Given the description of an element on the screen output the (x, y) to click on. 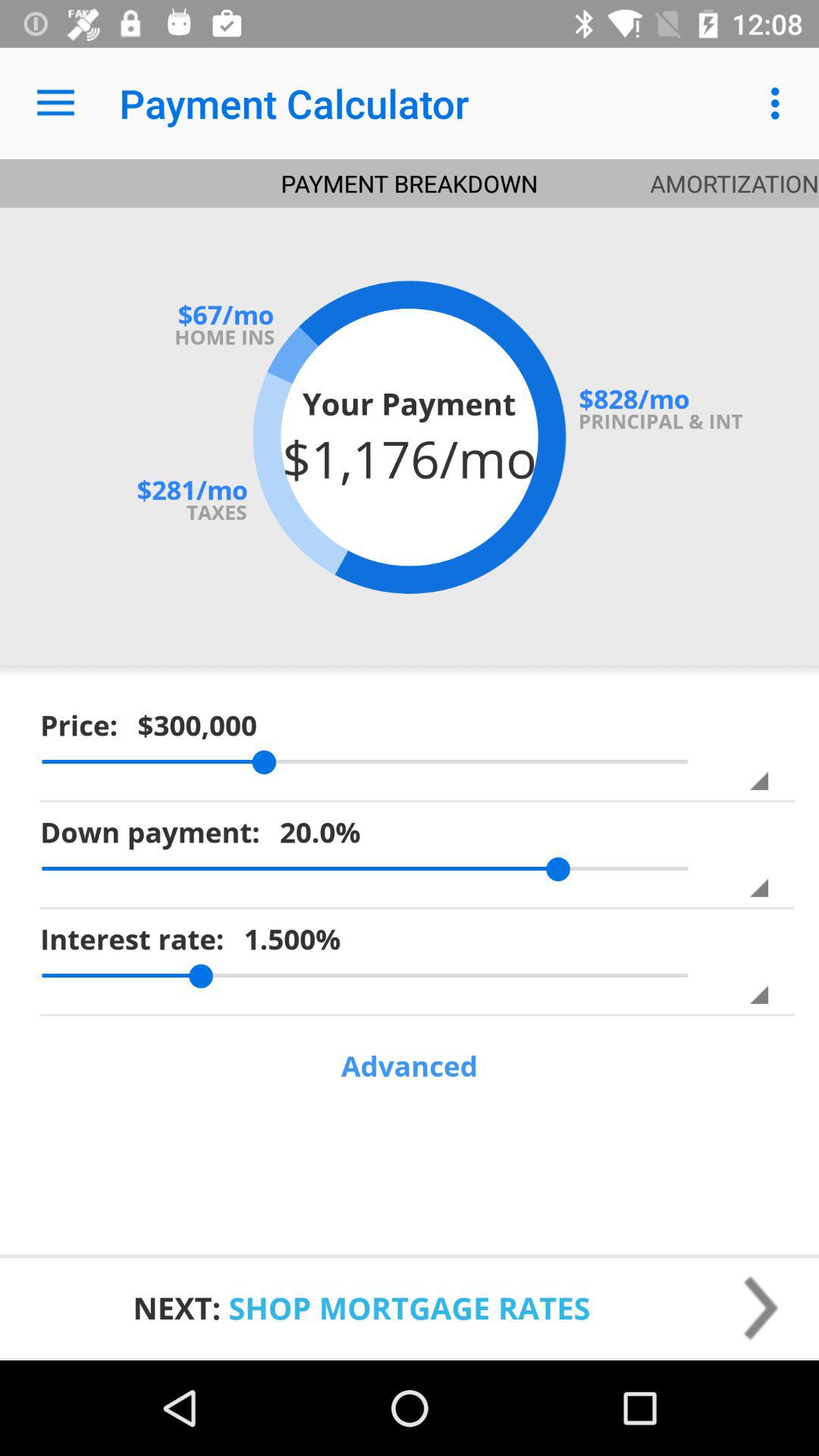
scroll to the next shop mortgage icon (409, 1307)
